Given the description of an element on the screen output the (x, y) to click on. 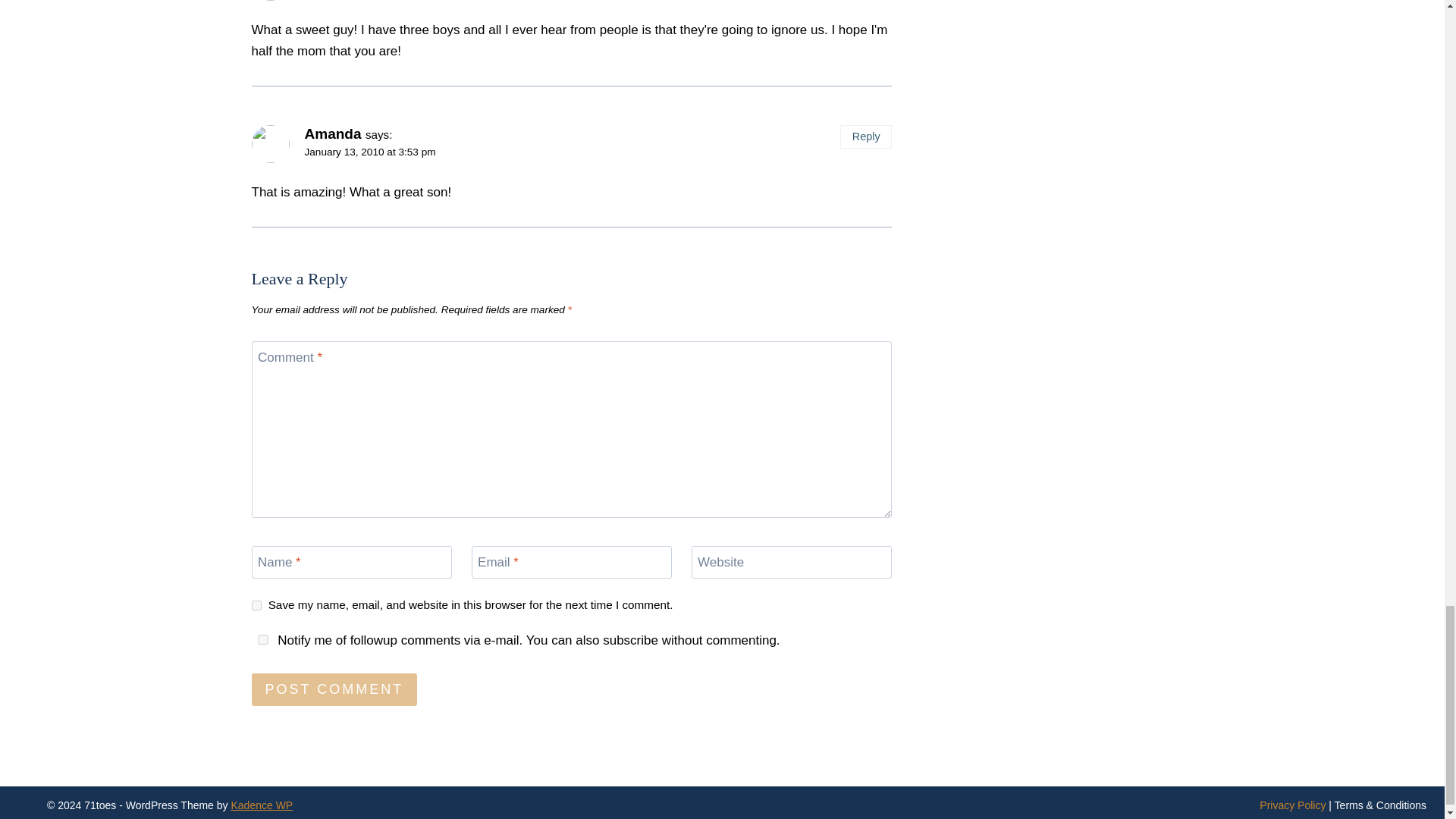
Post Comment (334, 689)
yes (263, 639)
yes (256, 605)
